Given the description of an element on the screen output the (x, y) to click on. 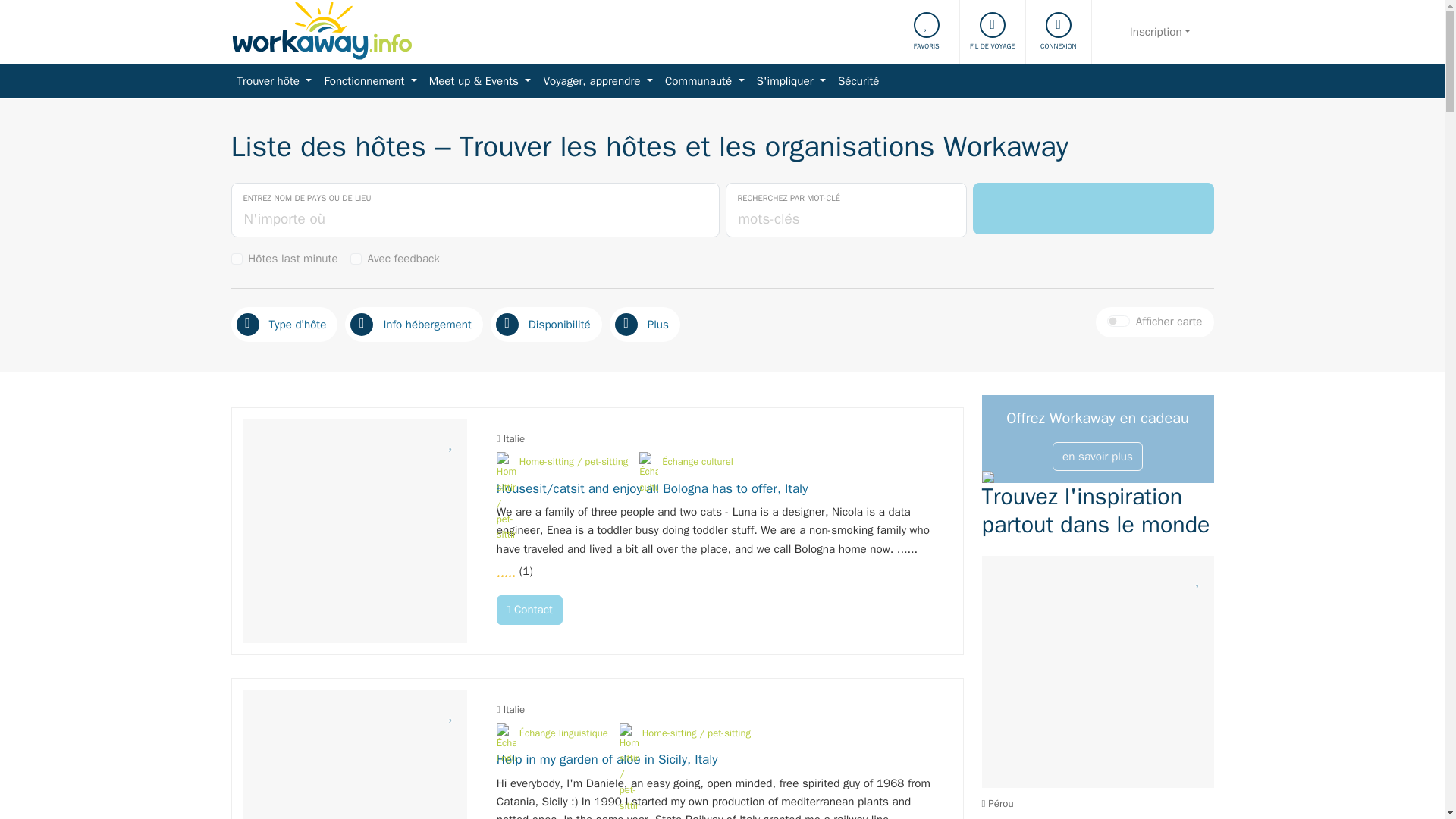
FIL DE VOYAGE (992, 32)
CONNEXION (1059, 32)
1 (355, 258)
FAVORIS (926, 32)
Inscription (1160, 31)
Fil de voyage (992, 32)
1 (235, 258)
on (1117, 320)
